Given the description of an element on the screen output the (x, y) to click on. 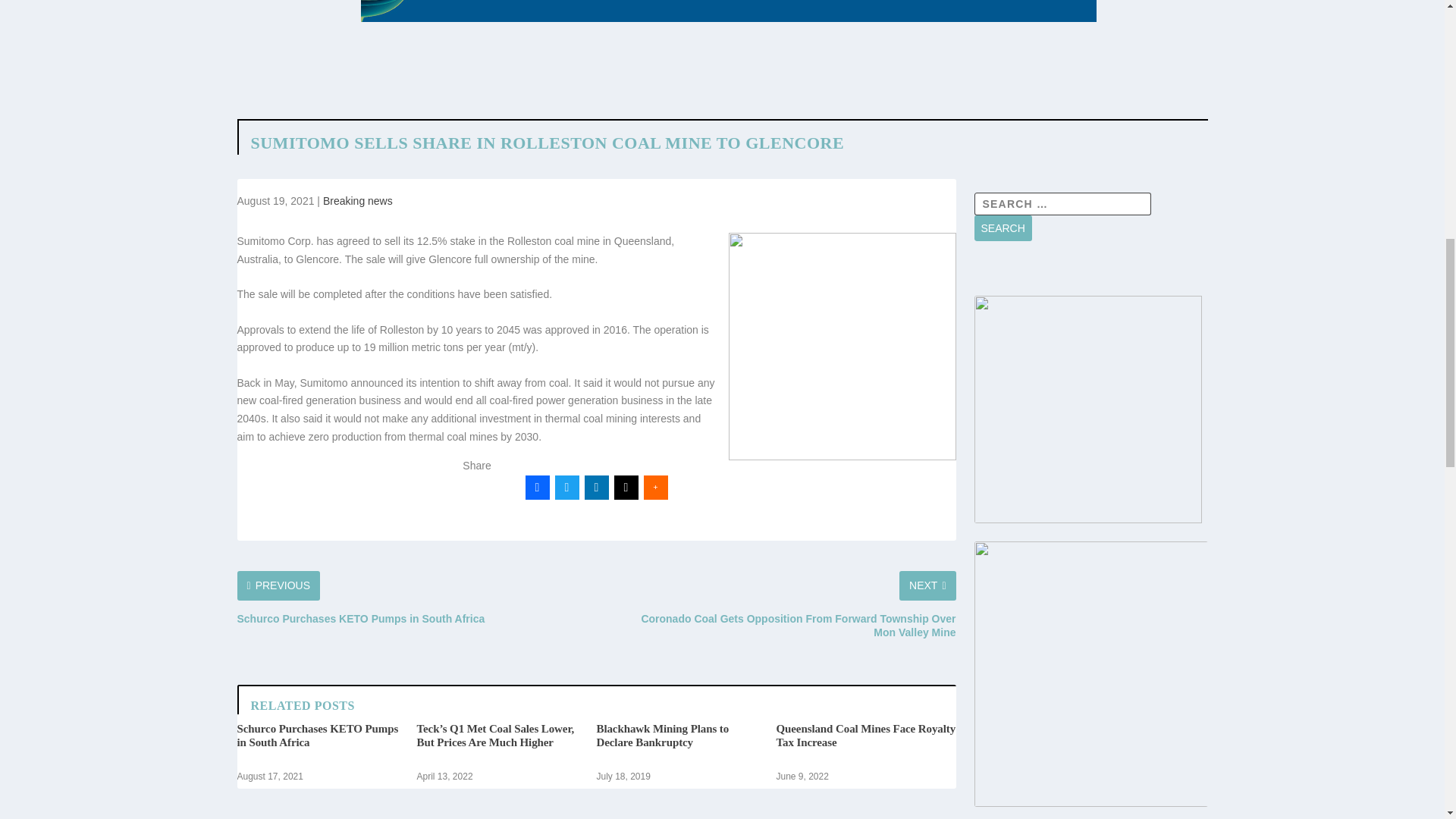
Search (1002, 227)
Schurco Purchases KETO Pumps in South Africa (316, 735)
Search (1002, 227)
Blackhawk Mining Plans to Declare Bankruptcy (662, 735)
Add this to LinkedIn (595, 487)
Email this  (626, 487)
Breaking news (358, 200)
Tweet this ! (566, 487)
Share this on Facebook (536, 487)
Queensland Coal Mines Face Royalty Tax Increase (866, 735)
More share links (654, 487)
